Given the description of an element on the screen output the (x, y) to click on. 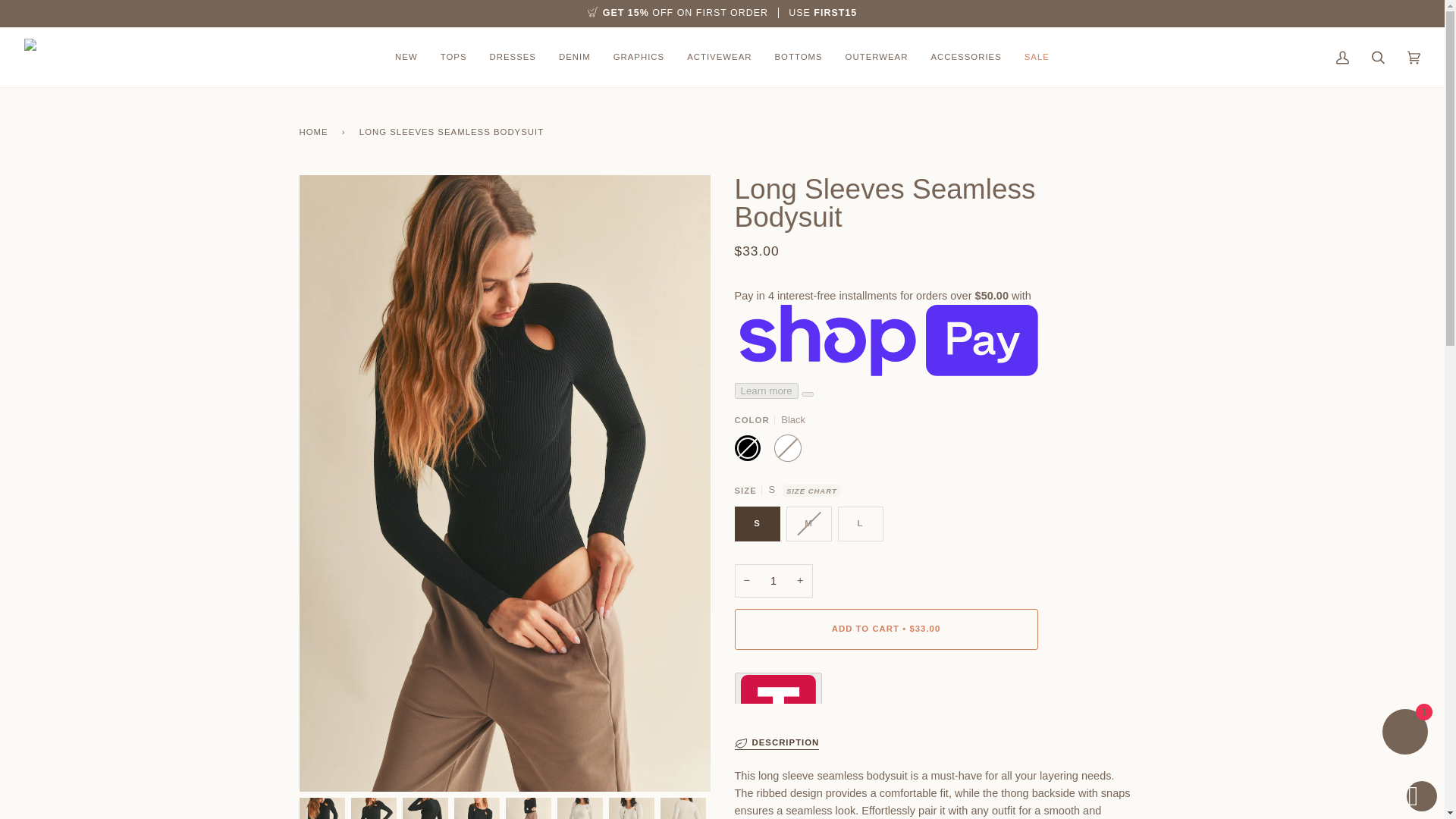
ACTIVEWEAR (718, 56)
OUTERWEAR (877, 56)
BOTTOMS (797, 56)
GRAPHICS (639, 56)
1 (772, 581)
Shopify online store chat (1404, 733)
True Fit Widget (938, 687)
Back to the frontpage (315, 131)
DRESSES (512, 56)
DENIM (574, 56)
HOME (315, 131)
ACCESSORIES (964, 56)
